Given the description of an element on the screen output the (x, y) to click on. 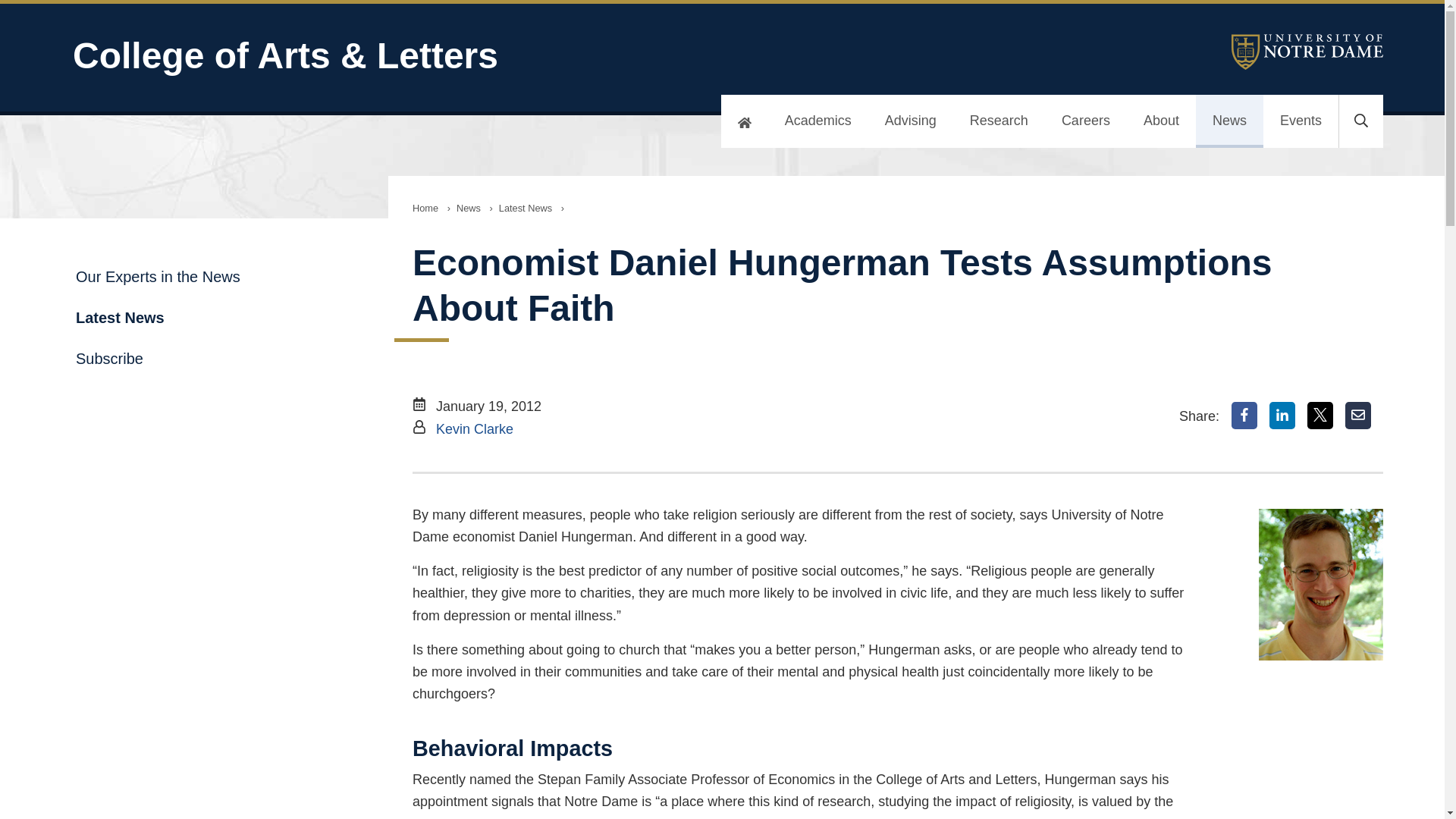
About (1160, 121)
Academics (817, 121)
Kevin Clarke (474, 428)
News (1229, 121)
University of Notre Dame (1307, 51)
Latest News (525, 207)
Events (1300, 121)
Facebook (1244, 415)
Email (1358, 415)
Research (999, 121)
Advising (910, 121)
Dan Hungerman (1321, 584)
Careers (1085, 121)
Home (425, 207)
LinkedIn (1282, 415)
